Given the description of an element on the screen output the (x, y) to click on. 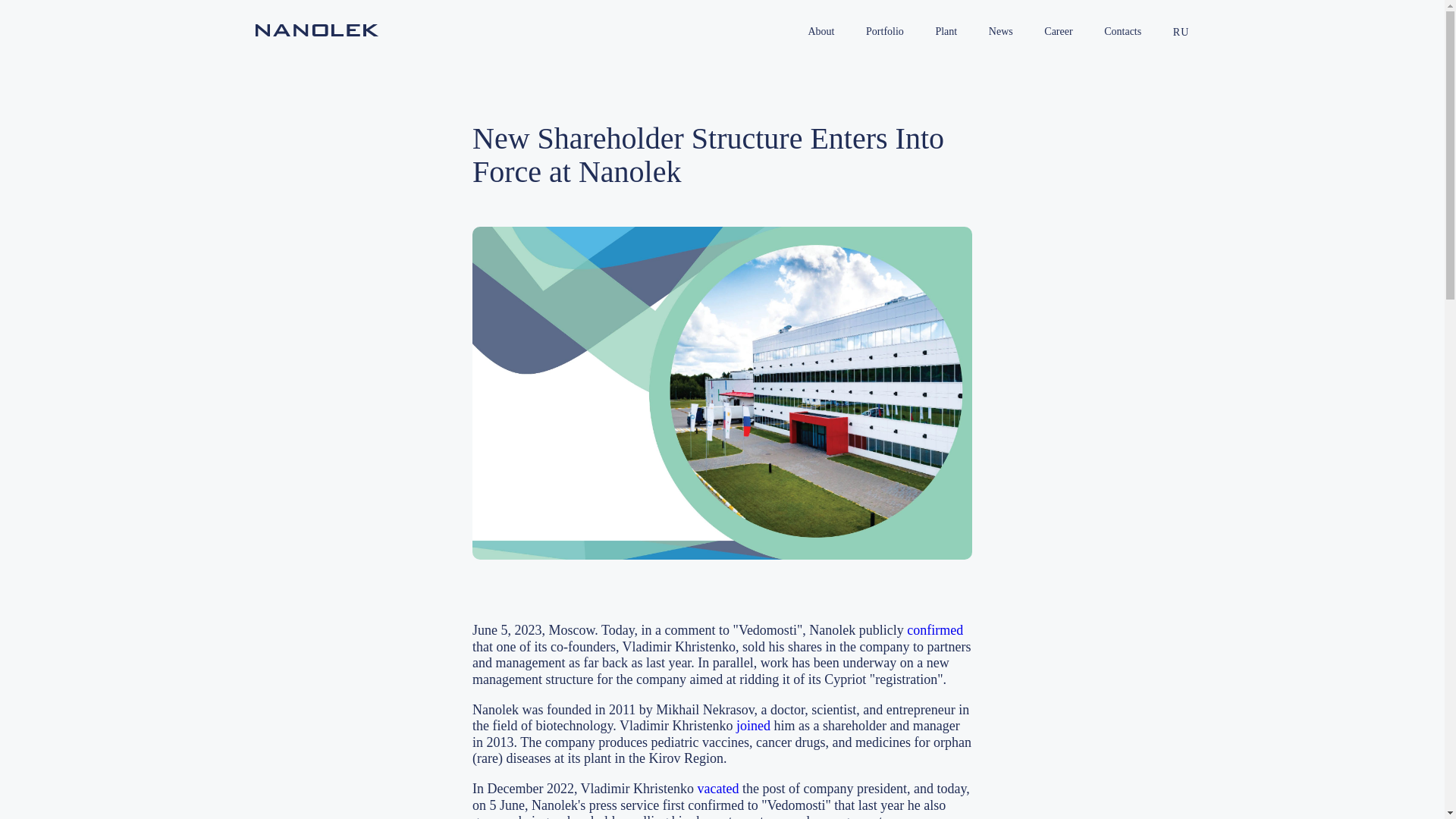
Portfolio (884, 31)
About (819, 31)
Plant (946, 31)
Contacts (1122, 31)
RU (1181, 31)
Career (1058, 31)
vacated (718, 788)
joined (753, 725)
confirmed (934, 630)
News (1000, 31)
